Given the description of an element on the screen output the (x, y) to click on. 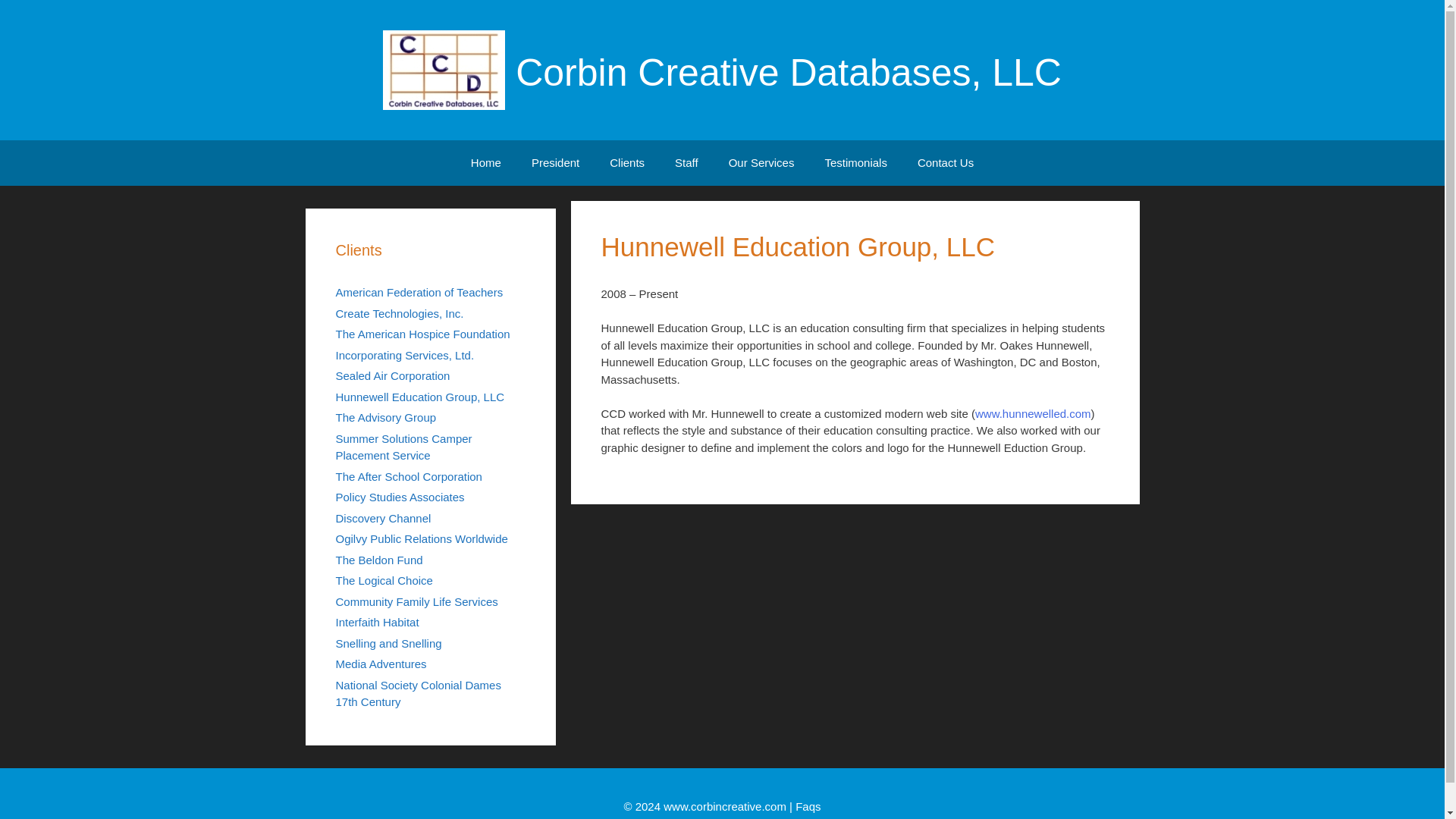
Incorporating Services, Ltd. (404, 354)
The Logical Choice (383, 580)
Sealed Air Corporation (391, 375)
The Advisory Group (384, 417)
American Federation of Teachers (418, 291)
The American Hospice Foundation (421, 333)
Faqs (807, 805)
The After School Corporation (407, 476)
Ogilvy Public Relations Worldwide (420, 538)
Skip to content (342, 149)
Summer Solutions Camper Placement Service (402, 447)
Our Services (761, 162)
President (555, 162)
National Society Colonial Dames 17th Century (417, 693)
Corbin Creative Databases, LLC (443, 69)
